Given the description of an element on the screen output the (x, y) to click on. 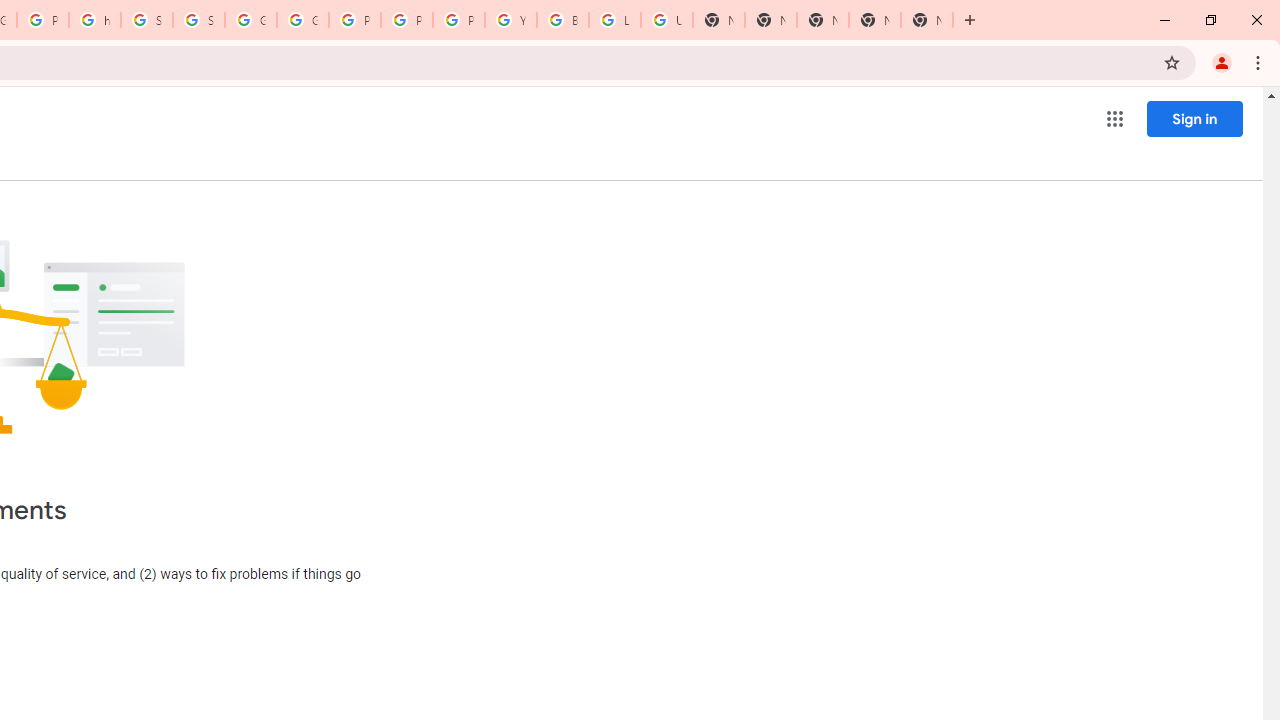
Browse Chrome as a guest - Computer - Google Chrome Help (562, 20)
YouTube (511, 20)
Sign in - Google Accounts (146, 20)
Privacy Help Center - Policies Help (406, 20)
New Tab (771, 20)
https://scholar.google.com/ (95, 20)
Privacy Help Center - Policies Help (355, 20)
